Given the description of an element on the screen output the (x, y) to click on. 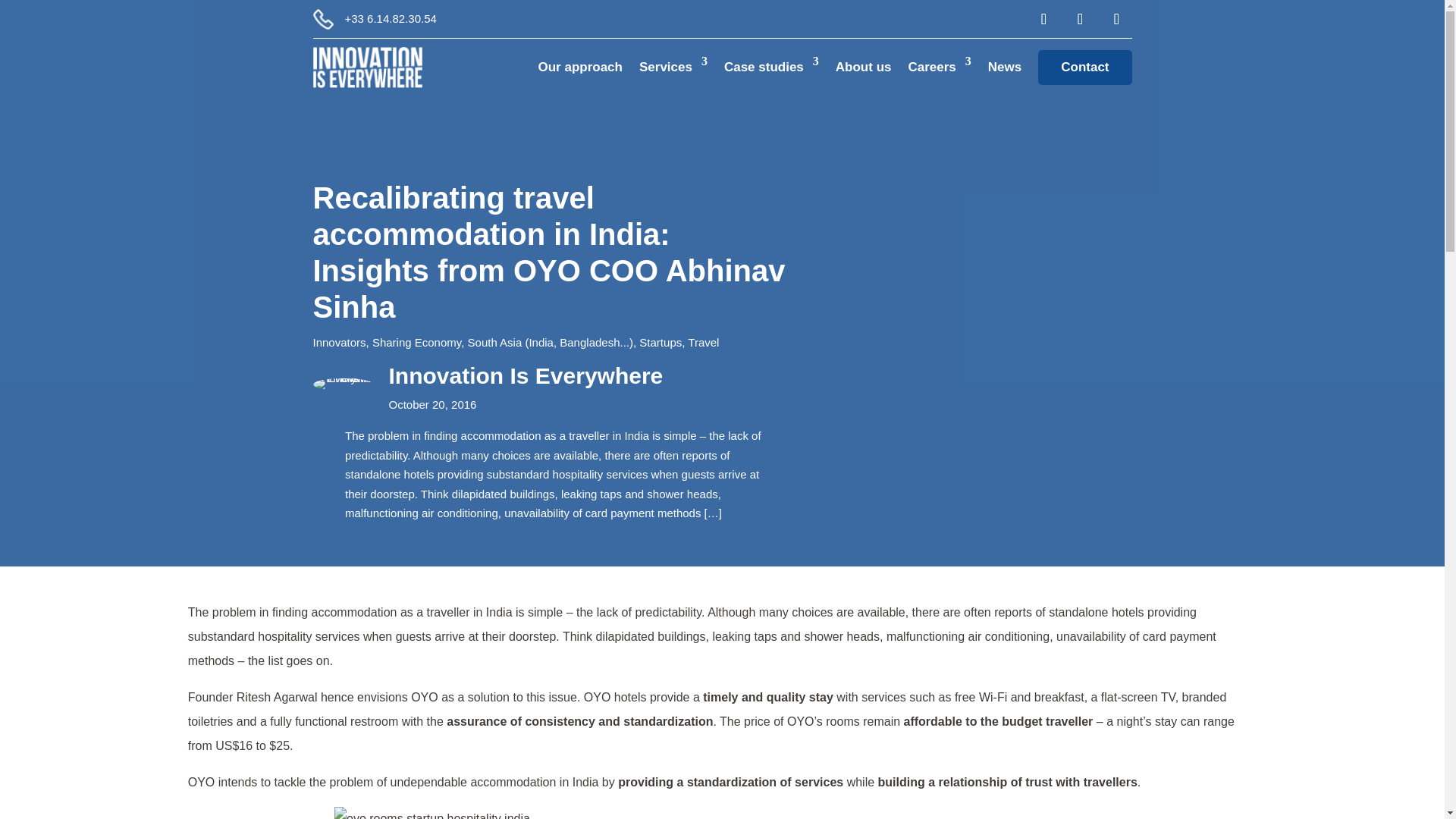
About us (863, 67)
Follow on X (1115, 19)
Case studies (770, 67)
Contact (1084, 67)
Sharing Economy (416, 341)
Follow on Facebook (1042, 19)
Careers (939, 67)
Services (673, 67)
Startups (660, 341)
Innovators (339, 341)
Our approach (580, 67)
Travel (703, 341)
Follow on LinkedIn (1079, 19)
